Given the description of an element on the screen output the (x, y) to click on. 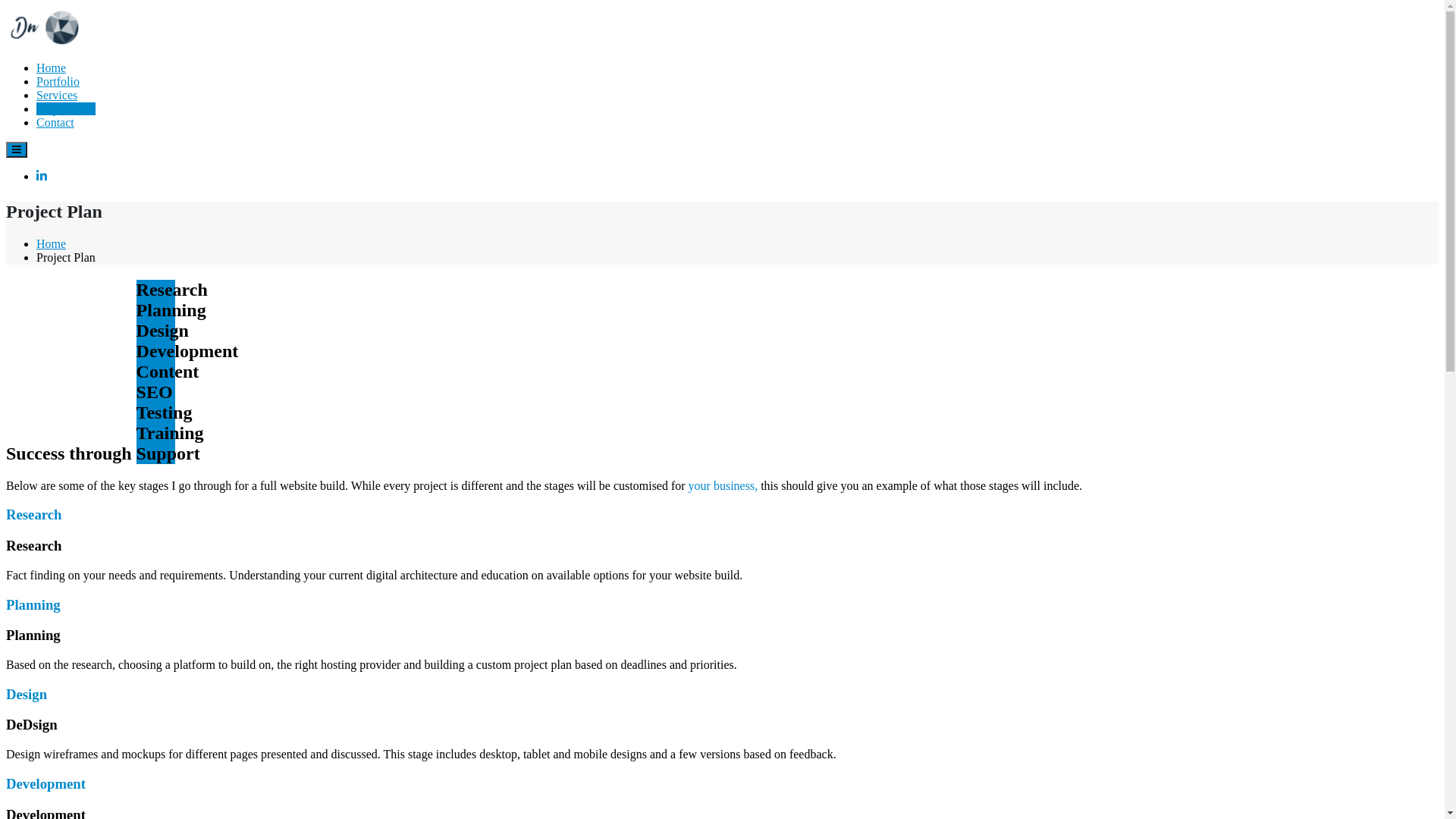
Contact Element type: text (55, 122)
Home Element type: text (50, 67)
Services Element type: text (56, 94)
Portfolio Element type: text (57, 81)
Linkedin Element type: hover (41, 175)
Home Element type: text (50, 243)
Project Plan Element type: text (65, 108)
